Given the description of an element on the screen output the (x, y) to click on. 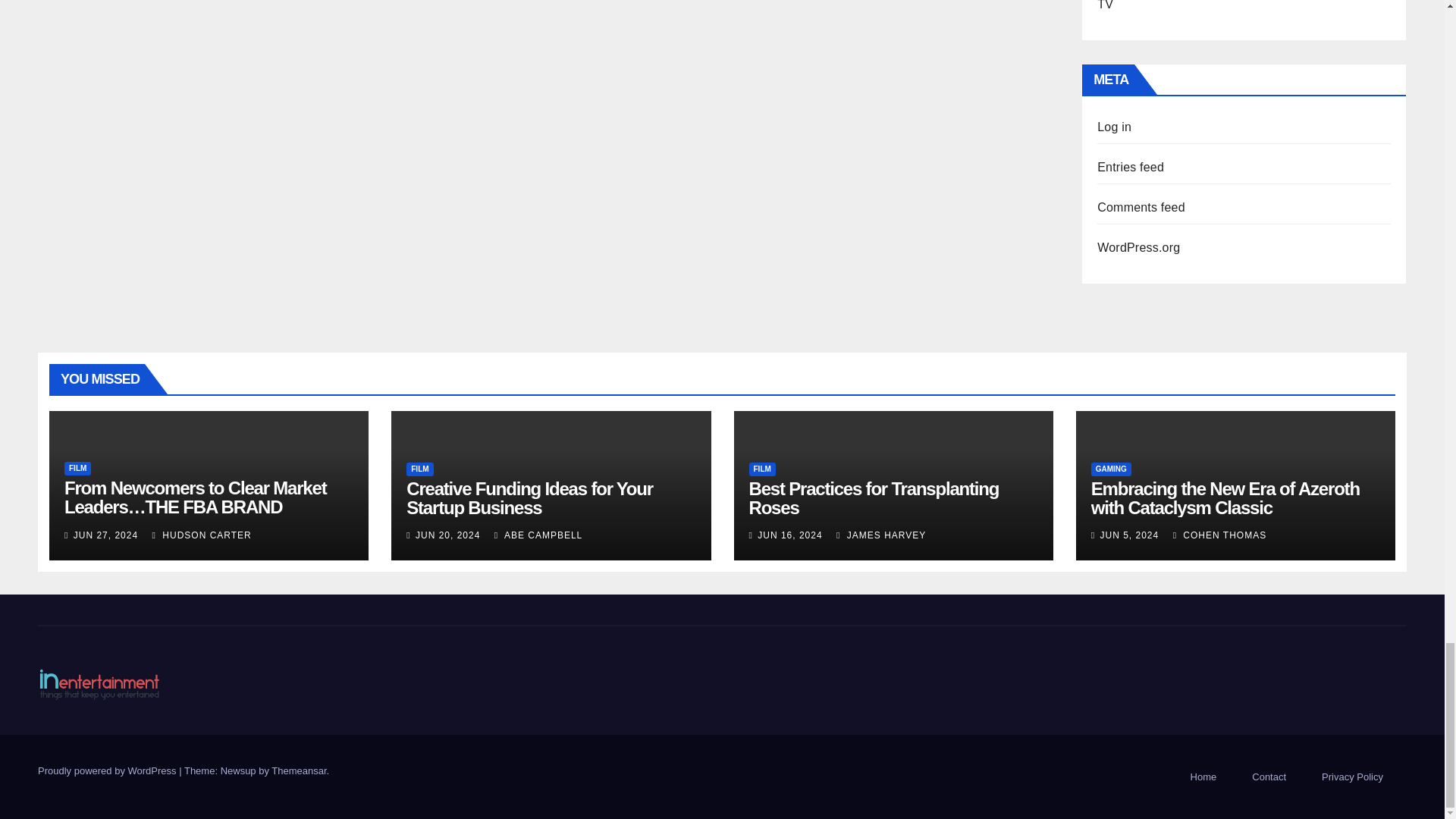
Permalink to: Best Practices for Transplanting Roses (873, 497)
Home (1202, 776)
